Given the description of an element on the screen output the (x, y) to click on. 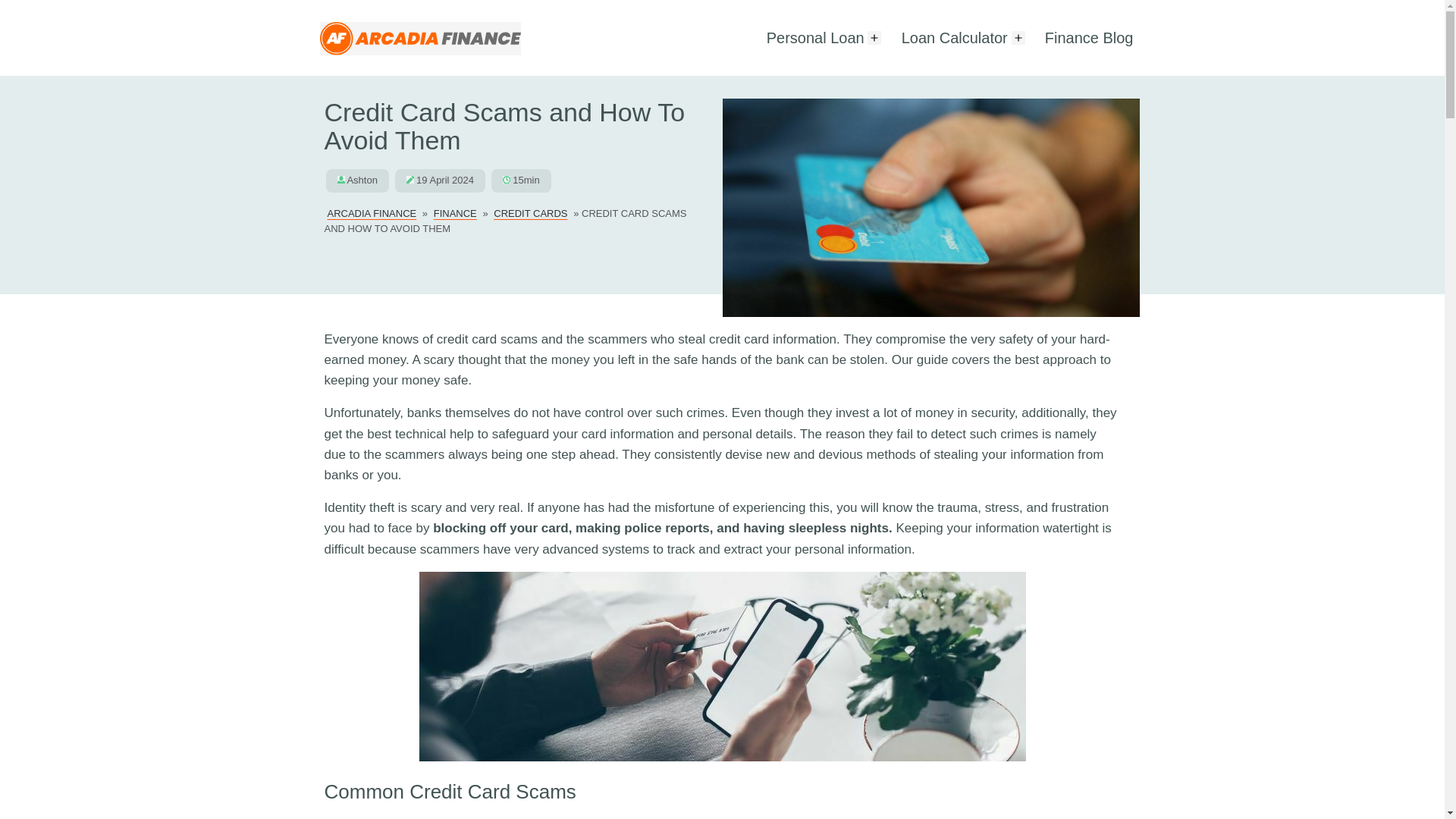
ARCADIA FINANCE (372, 212)
Personal Loan (809, 37)
FINANCE (455, 212)
Open menu (1018, 36)
Arcadia Finance (420, 38)
CREDIT CARDS (530, 212)
Arcadia Finance (420, 49)
Open menu (874, 36)
Loan Calculator (949, 37)
Finance Blog (1088, 37)
